Given the description of an element on the screen output the (x, y) to click on. 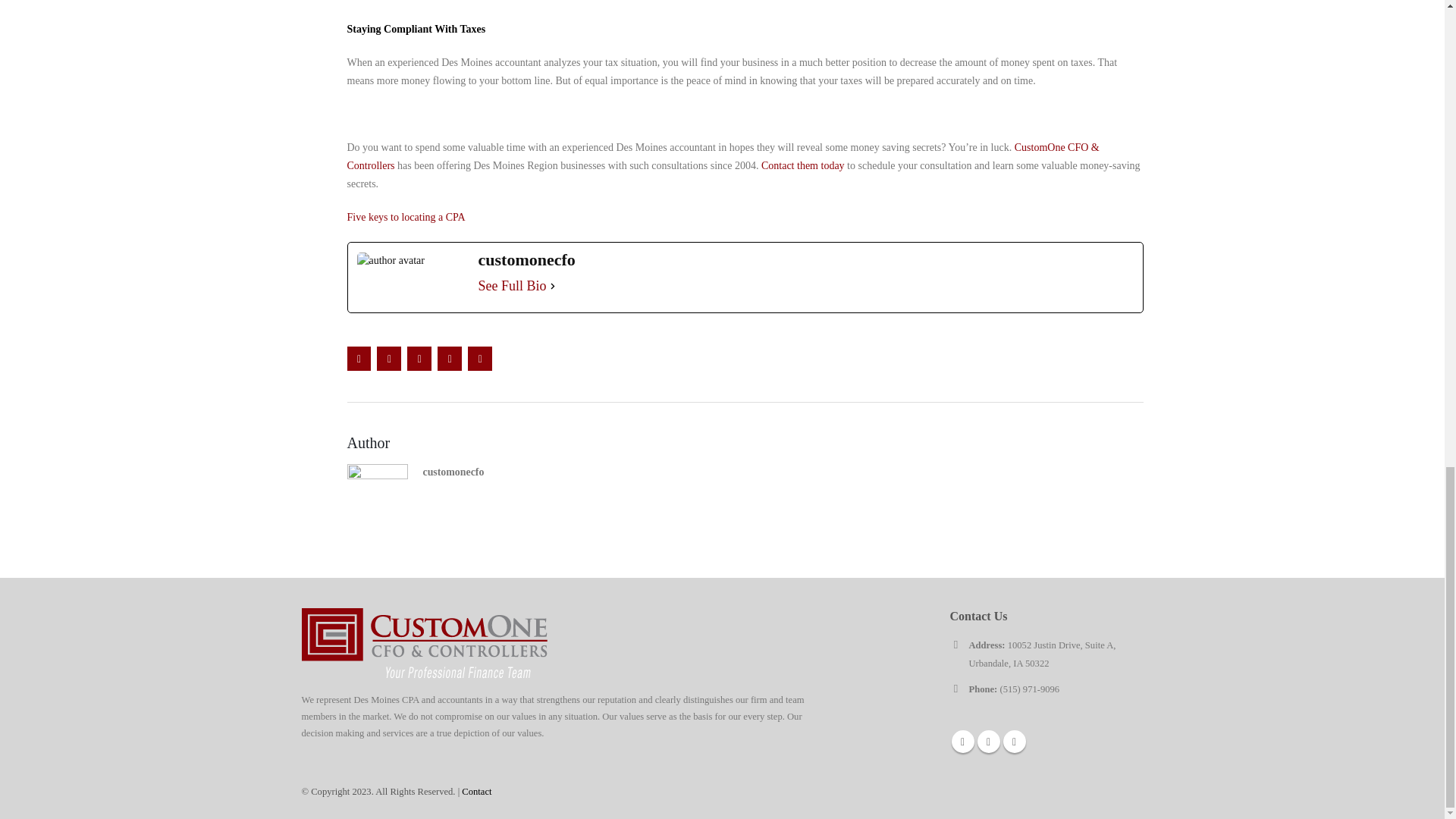
Posts by customonecfo (453, 471)
LinkedIn (418, 358)
Twitter (987, 741)
customonecfo (453, 471)
Linkedin (1014, 741)
Twitter (389, 358)
Email (479, 358)
See Full Bio (511, 285)
Contact (476, 791)
Contact them today (802, 165)
Facebook (962, 741)
Five keys to locating a CPA (406, 216)
Facebook (359, 358)
